Given the description of an element on the screen output the (x, y) to click on. 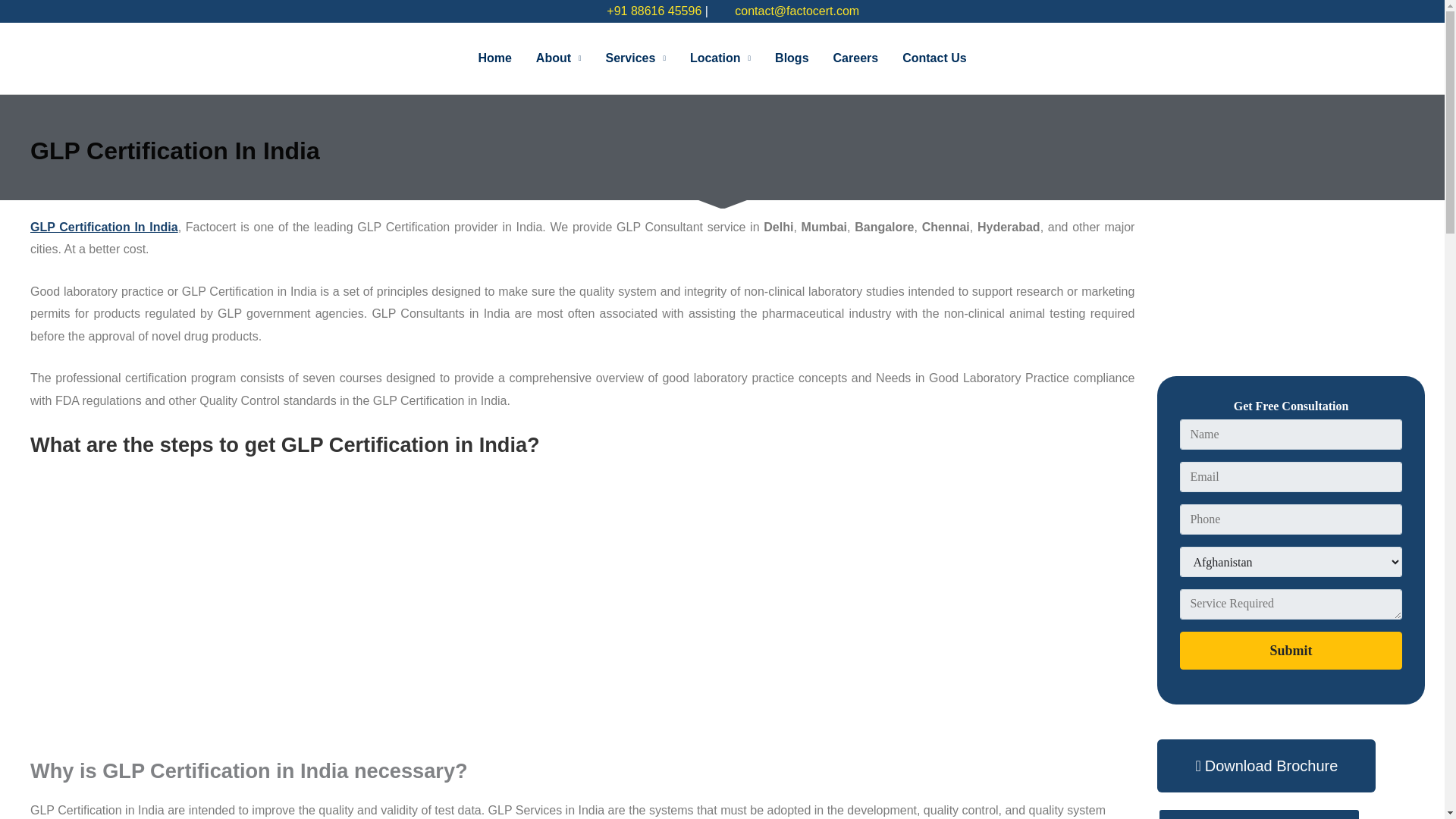
About (559, 57)
Home (493, 57)
Services (636, 57)
